Given the description of an element on the screen output the (x, y) to click on. 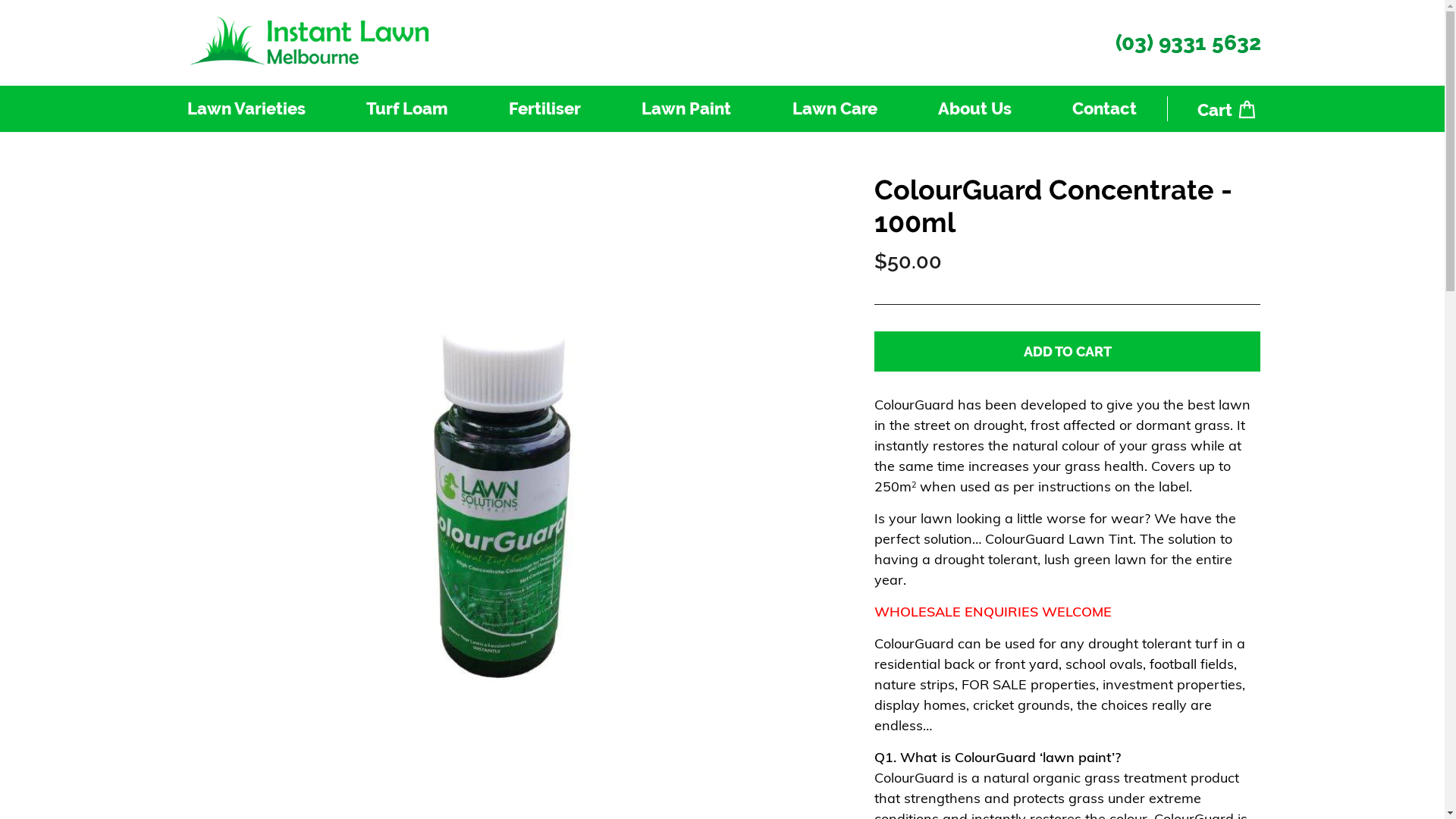
Lawn Care Element type: text (833, 108)
ADD TO CART Element type: text (1067, 351)
Contact Element type: text (1104, 108)
About Us Element type: text (974, 108)
Turf Loam Element type: text (406, 108)
Cart Element type: text (1227, 108)
Fertiliser Element type: text (544, 108)
(03) 9331 5632 Element type: text (1179, 42)
Lawn Paint Element type: text (686, 108)
Skip to content Element type: text (0, 0)
Lawn Varieties Element type: text (245, 108)
